Given the description of an element on the screen output the (x, y) to click on. 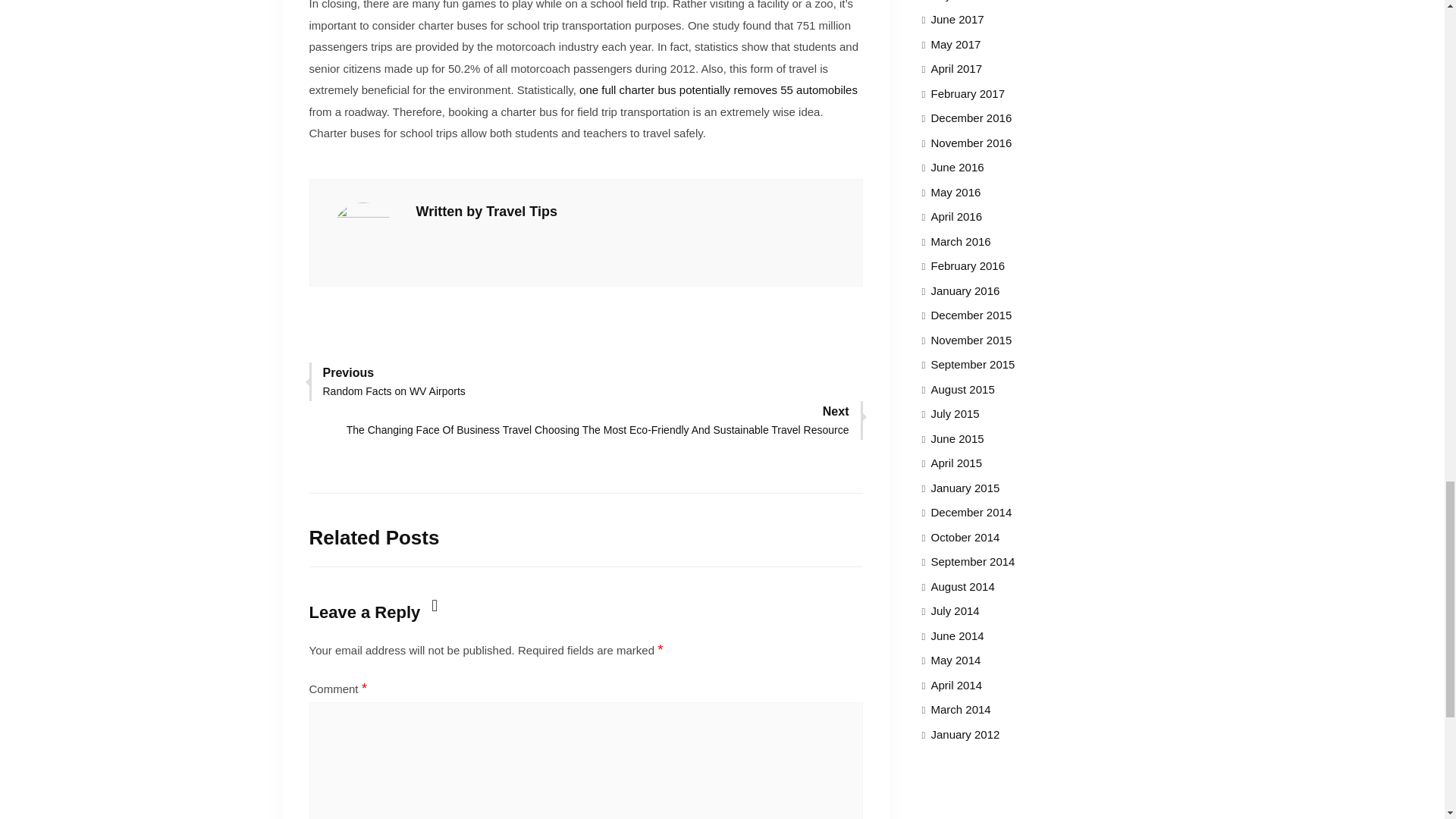
Posts by Travel Tips (521, 211)
Travel Tips (521, 211)
one full charter bus potentially removes 55 automobiles (718, 89)
See more about Charter bus companies (718, 89)
